Given the description of an element on the screen output the (x, y) to click on. 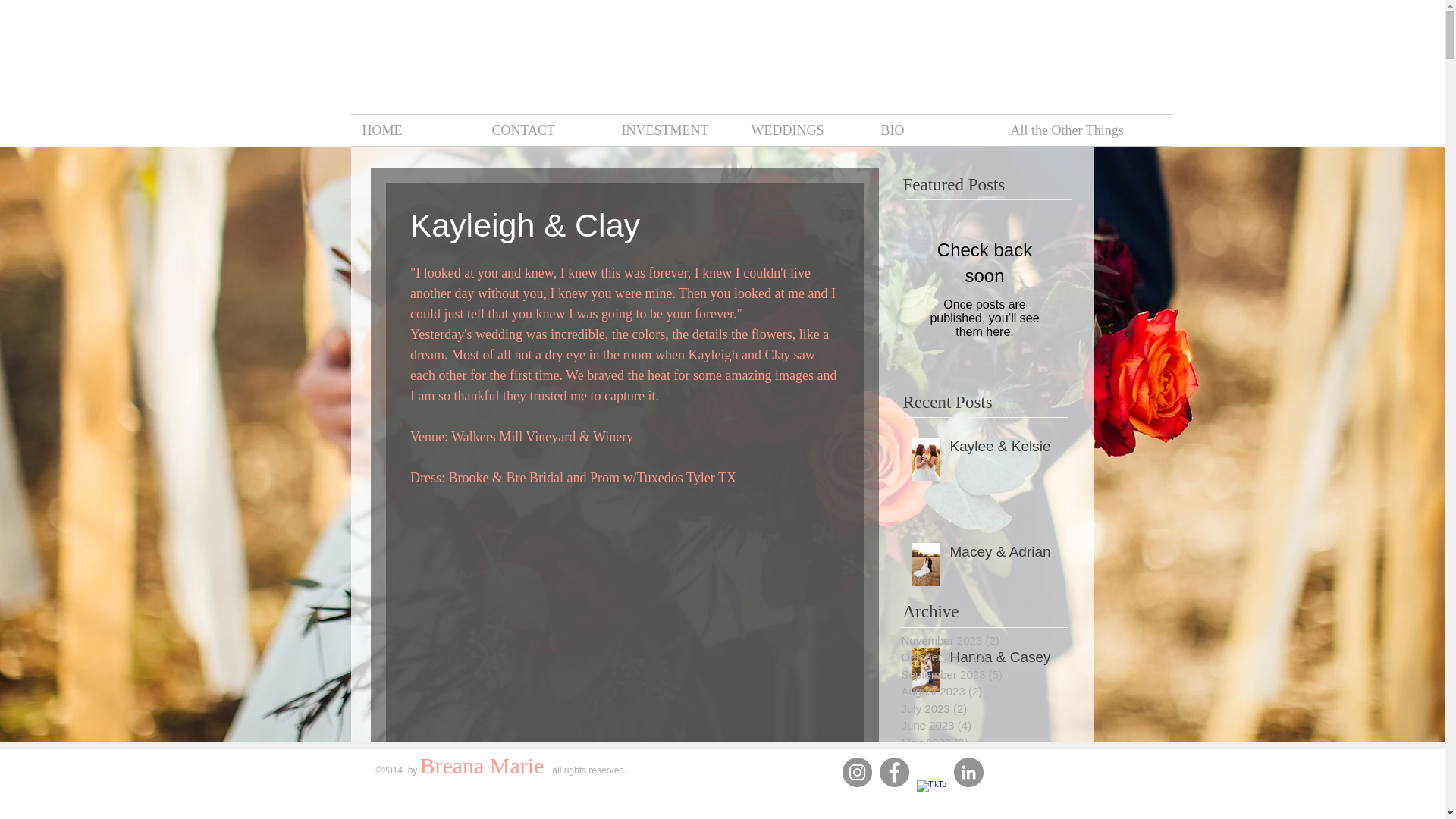
All the Other Things (1063, 130)
BIO (933, 130)
WEDDINGS (804, 130)
HOME (415, 130)
INVESTMENT (674, 130)
CONTACT (545, 130)
